Given the description of an element on the screen output the (x, y) to click on. 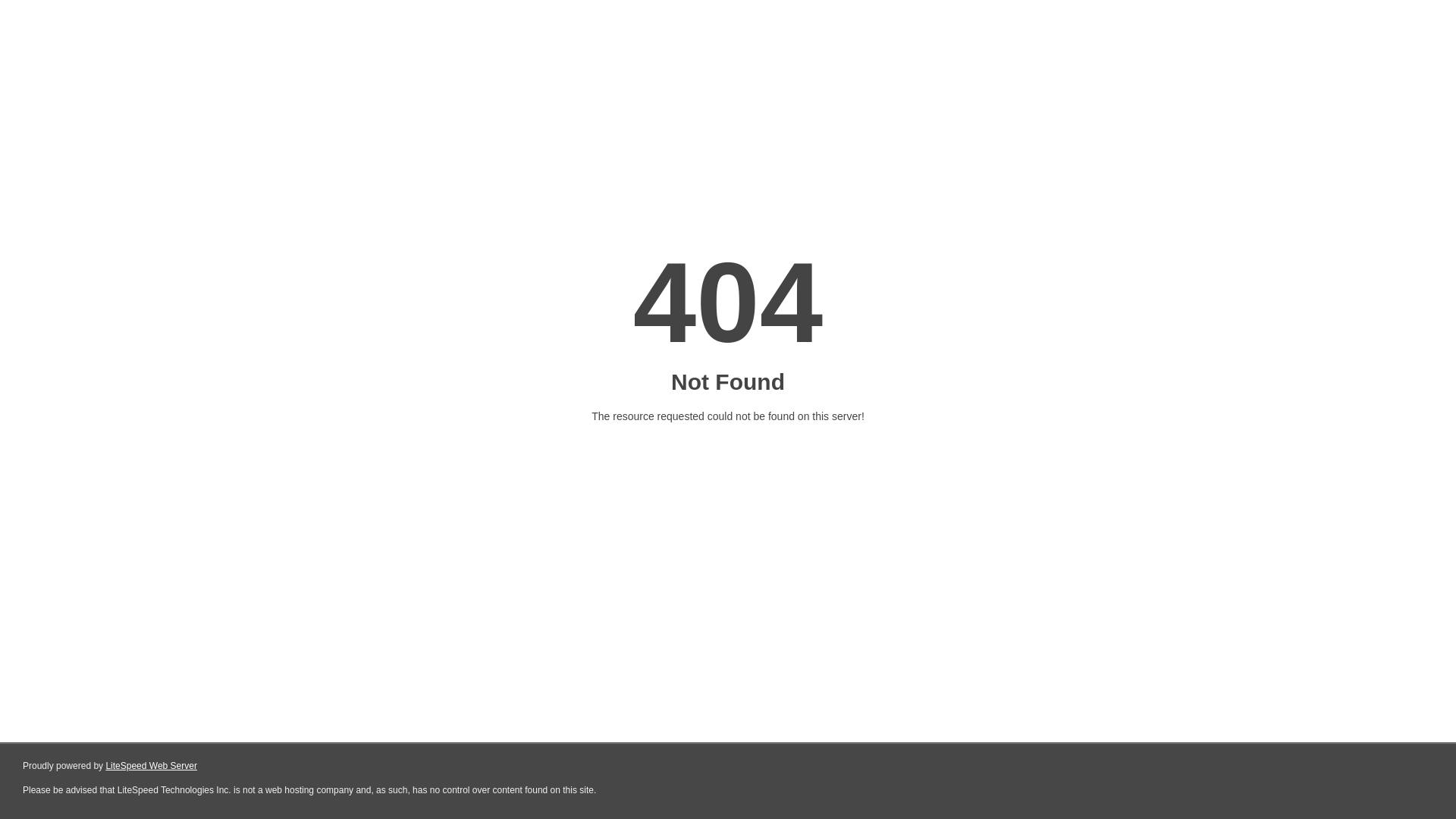
LiteSpeed Web Server Element type: text (151, 765)
